Given the description of an element on the screen output the (x, y) to click on. 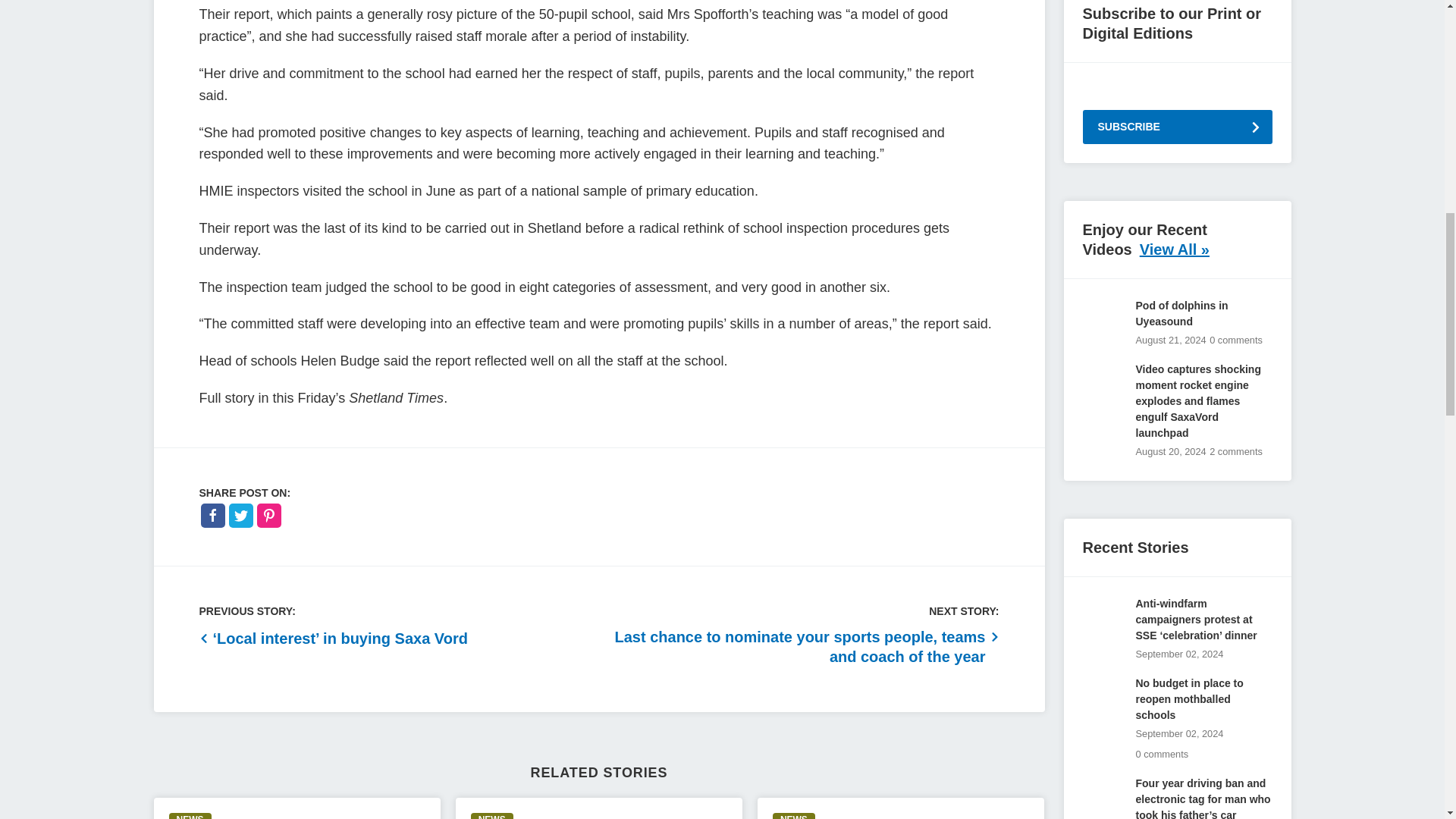
NEWS (491, 816)
NEWS (794, 816)
SUBSCRIBE (1177, 126)
NEWS (189, 816)
